Given the description of an element on the screen output the (x, y) to click on. 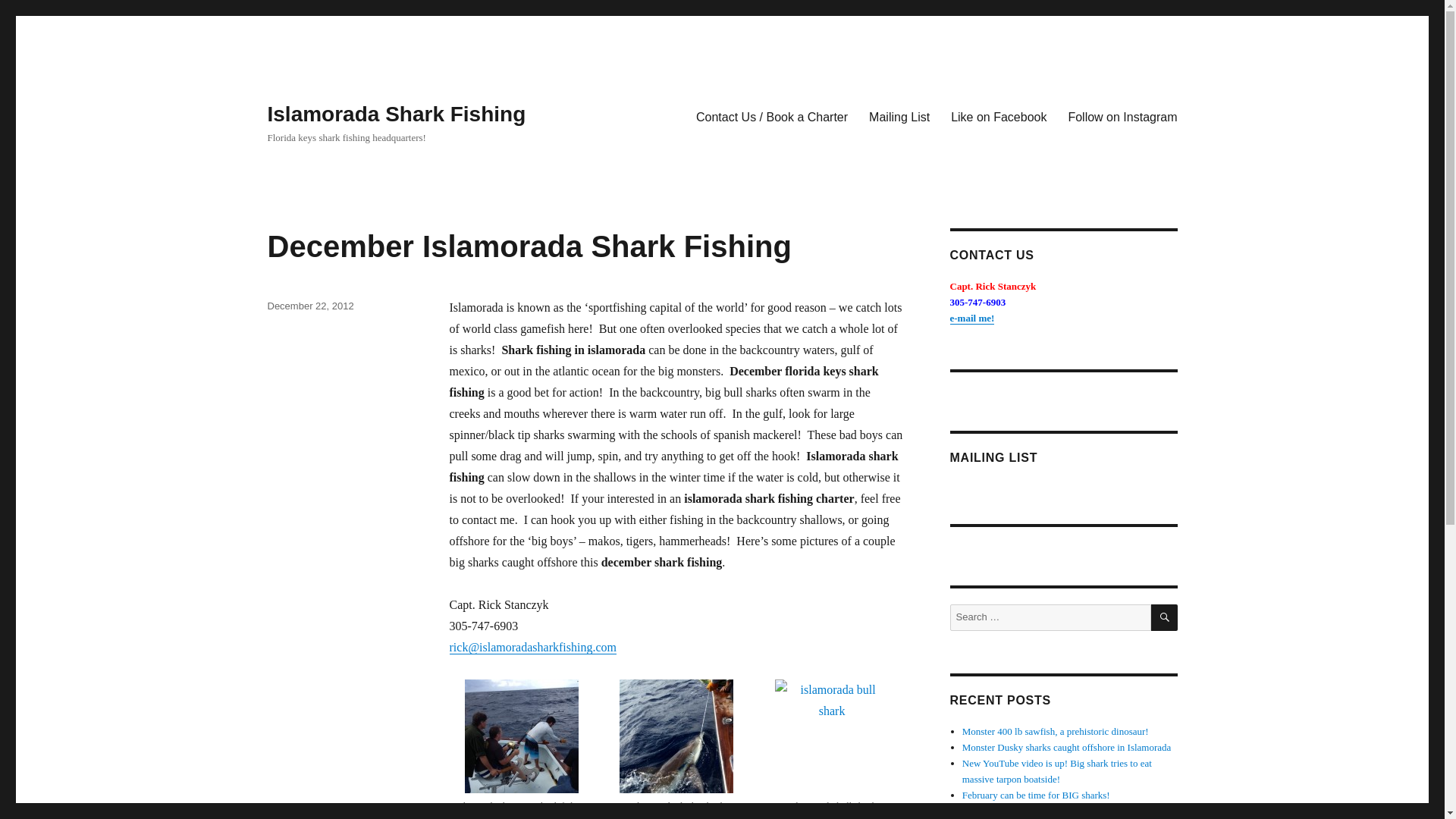
Mailing List (899, 116)
February can be time for BIG sharks! (1035, 794)
Monster 400 lb sawfish, a prehistoric dinosaur! (1055, 731)
SEARCH (1164, 617)
December 22, 2012 (309, 306)
Like on Facebook (998, 116)
Monster Dusky sharks caught offshore in Islamorada (1067, 747)
e-mail me! (971, 317)
Islamorada Shark Fishing (395, 114)
January Islamorada Shark Fishing (1029, 810)
Follow on Instagram (1122, 116)
December Islamorada Shark Fishing (528, 246)
